Given the description of an element on the screen output the (x, y) to click on. 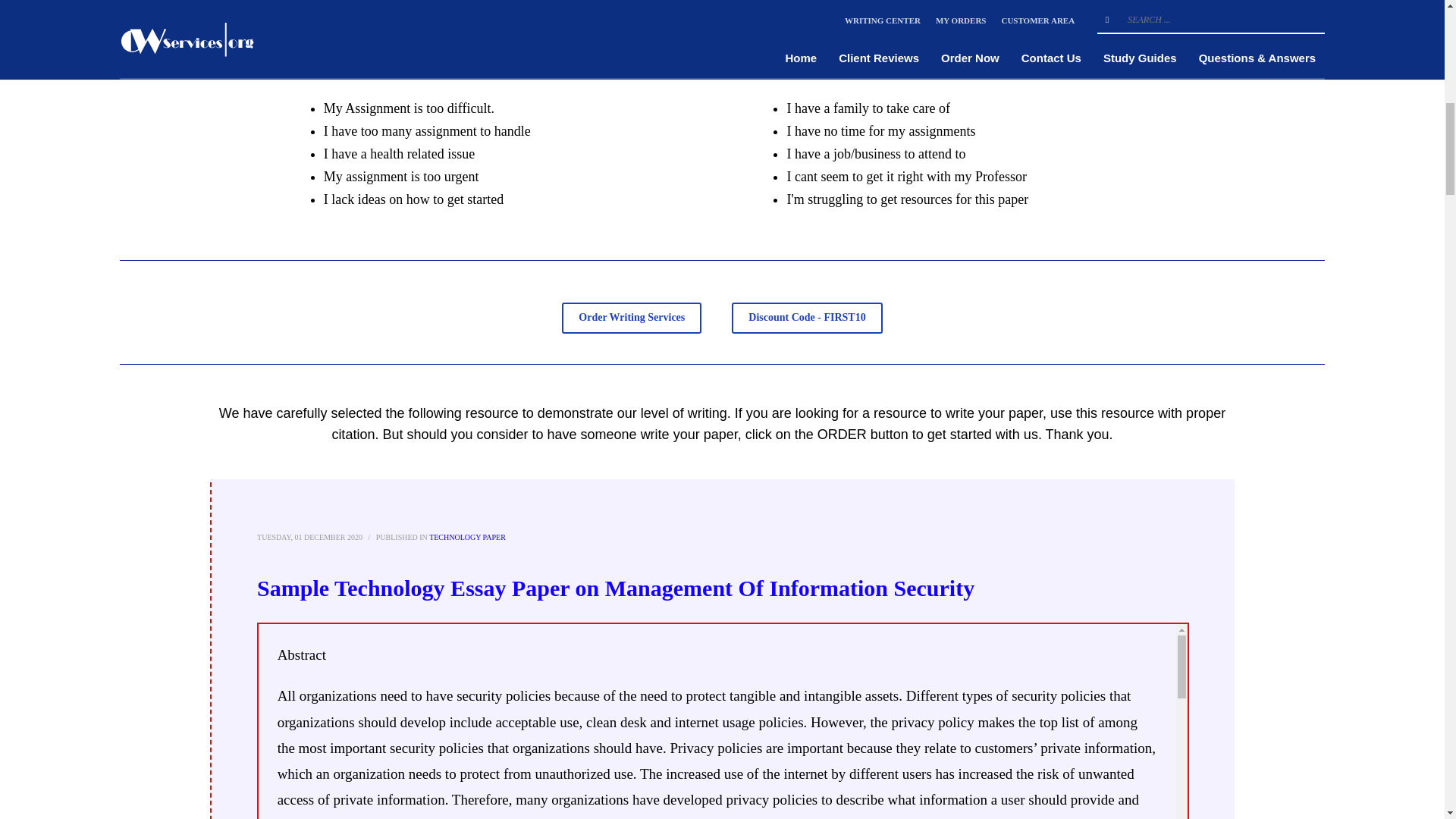
Discount Code - FIRST10 (807, 317)
Order Writing Services (631, 317)
TECHNOLOGY PAPER (467, 537)
